Given the description of an element on the screen output the (x, y) to click on. 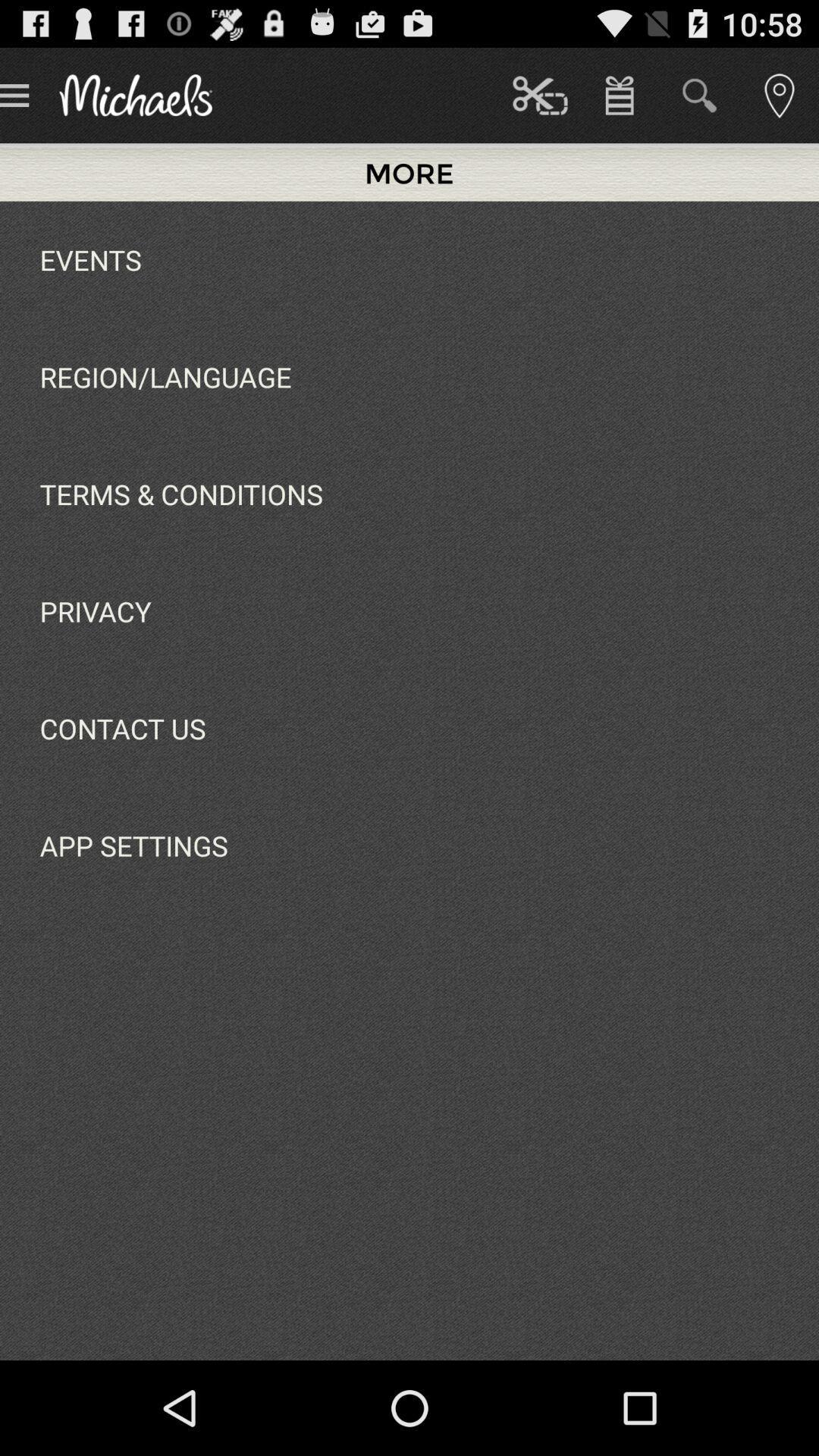
flip to the events (90, 259)
